Given the description of an element on the screen output the (x, y) to click on. 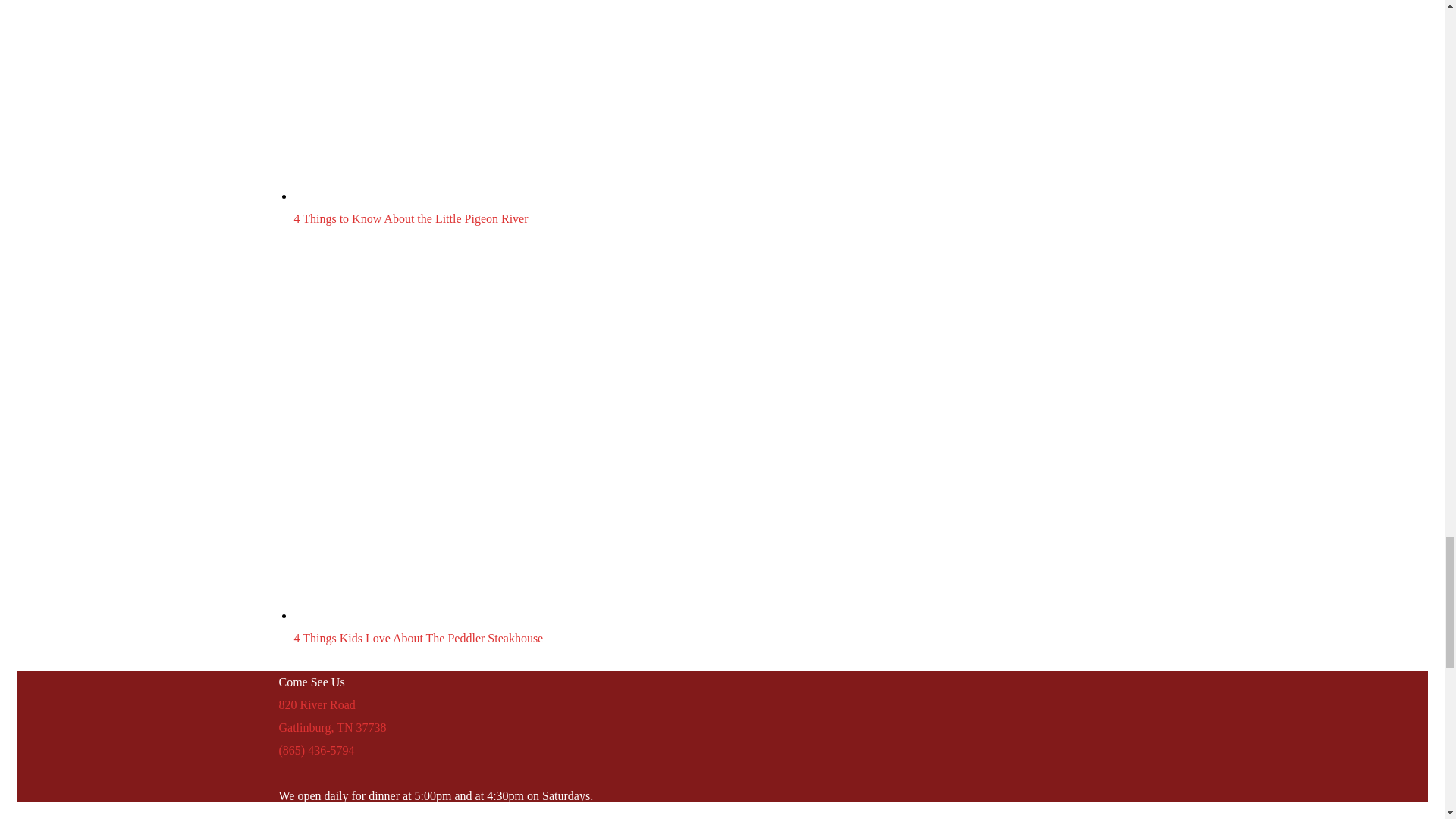
4 Things Kids Love About The Peddler Steakhouse (418, 637)
4 Things to Know About the Little Pigeon River (411, 218)
4 Things to Know About the Little Pigeon River (585, 99)
